Given the description of an element on the screen output the (x, y) to click on. 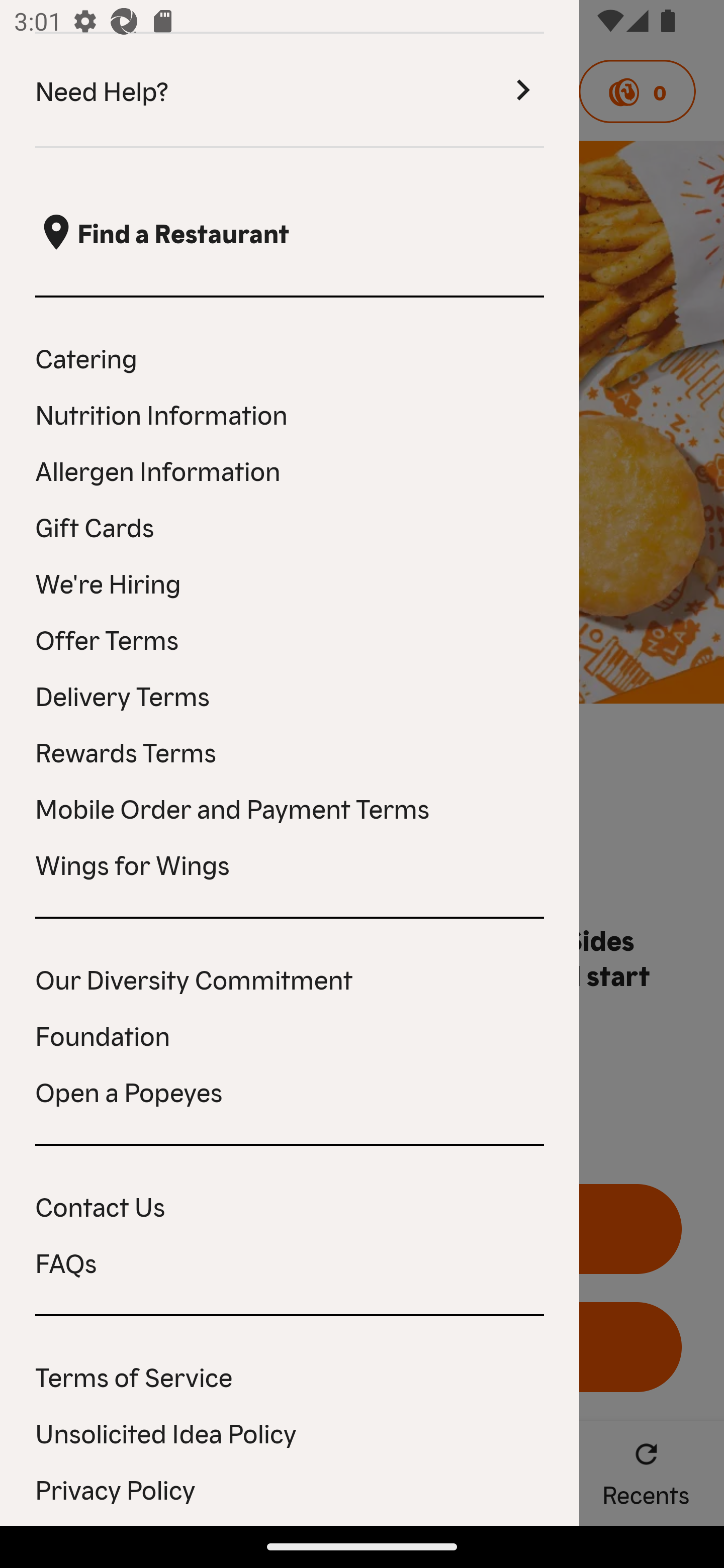
Need Help? Need Help?  (289, 89)
, Find a Restaurant  Find a Restaurant (289, 232)
Catering (289, 357)
Nutrition Information (289, 413)
Allergen Information (289, 469)
Gift Cards (289, 526)
We're Hiring (289, 582)
Offer Terms (289, 638)
Delivery Terms (289, 694)
Rewards Terms (289, 750)
Mobile Order and Payment Terms (289, 807)
Wings for Wings (289, 863)
Our Diversity Commitment (289, 978)
Foundation (289, 1034)
Open a Popeyes (289, 1091)
Contact Us (289, 1205)
FAQs (289, 1261)
Terms of Service (289, 1375)
Unsolicited Idea Policy (289, 1432)
Privacy Policy (289, 1488)
